Given the description of an element on the screen output the (x, y) to click on. 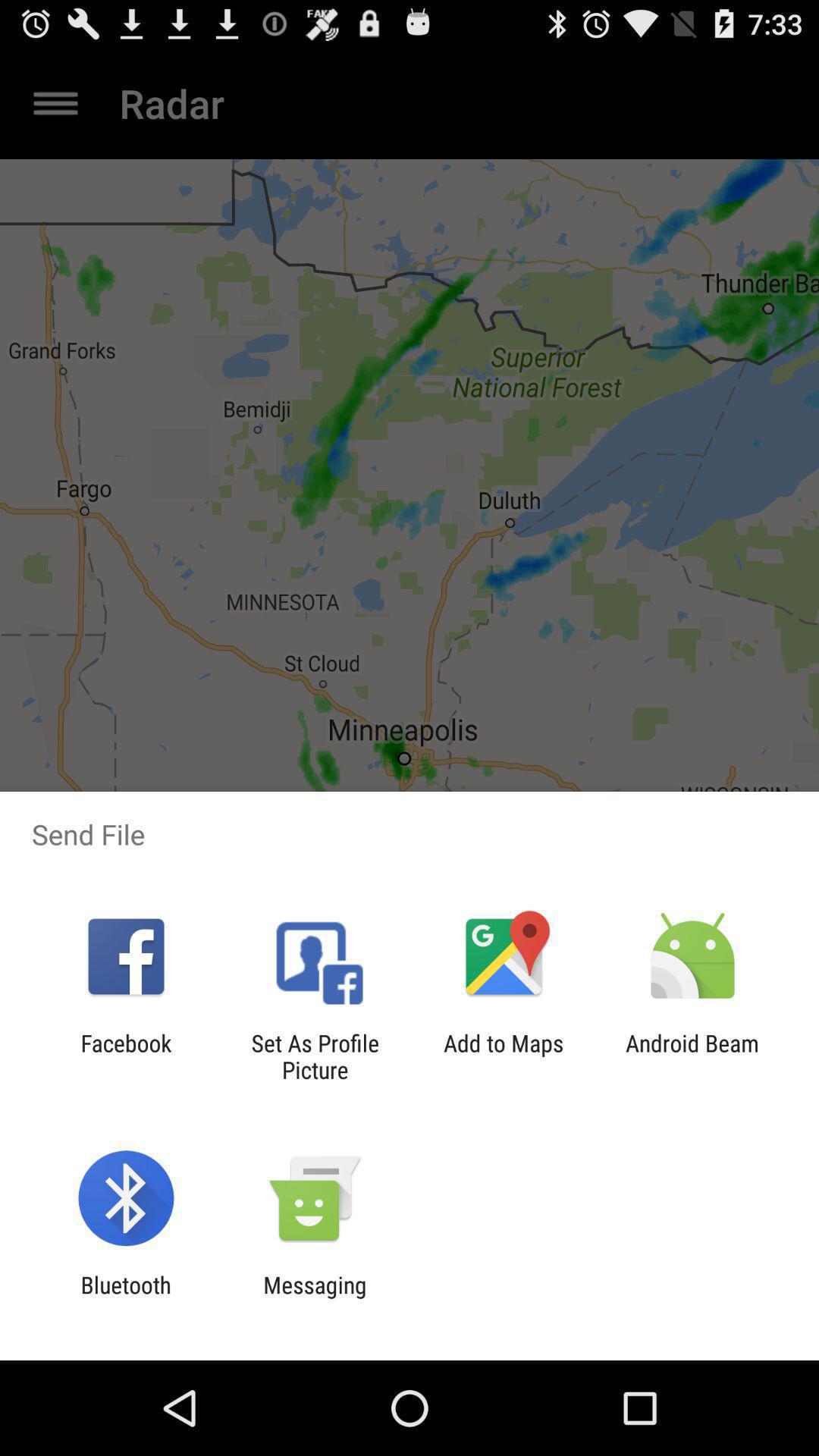
turn off app to the left of messaging app (125, 1298)
